Given the description of an element on the screen output the (x, y) to click on. 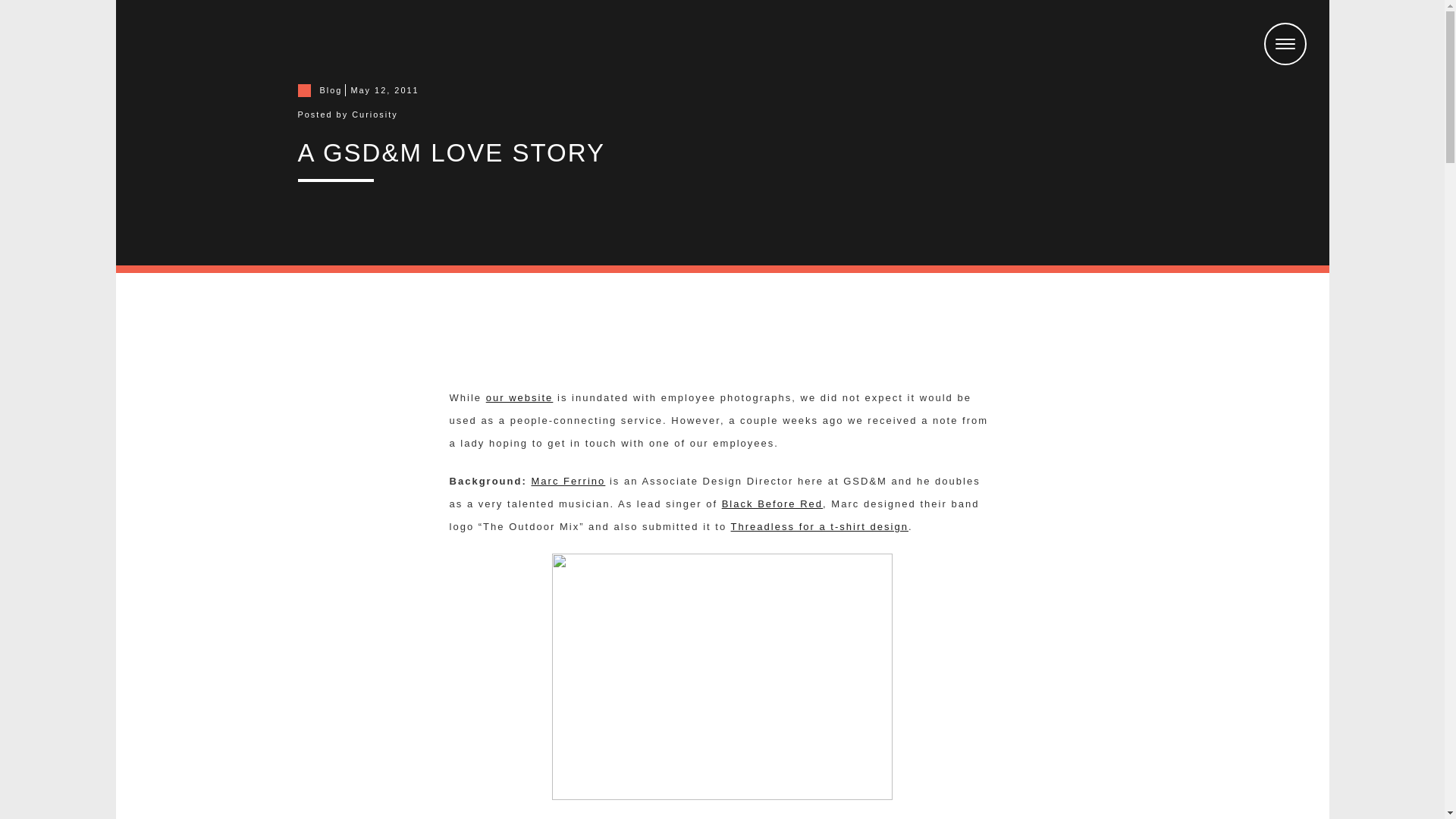
Curiosity (374, 113)
Toggle navigation (1284, 43)
Threadless for a t-shirt design (819, 526)
Black Before Red (772, 503)
our website (519, 397)
Marc Ferrino (568, 480)
